Given the description of an element on the screen output the (x, y) to click on. 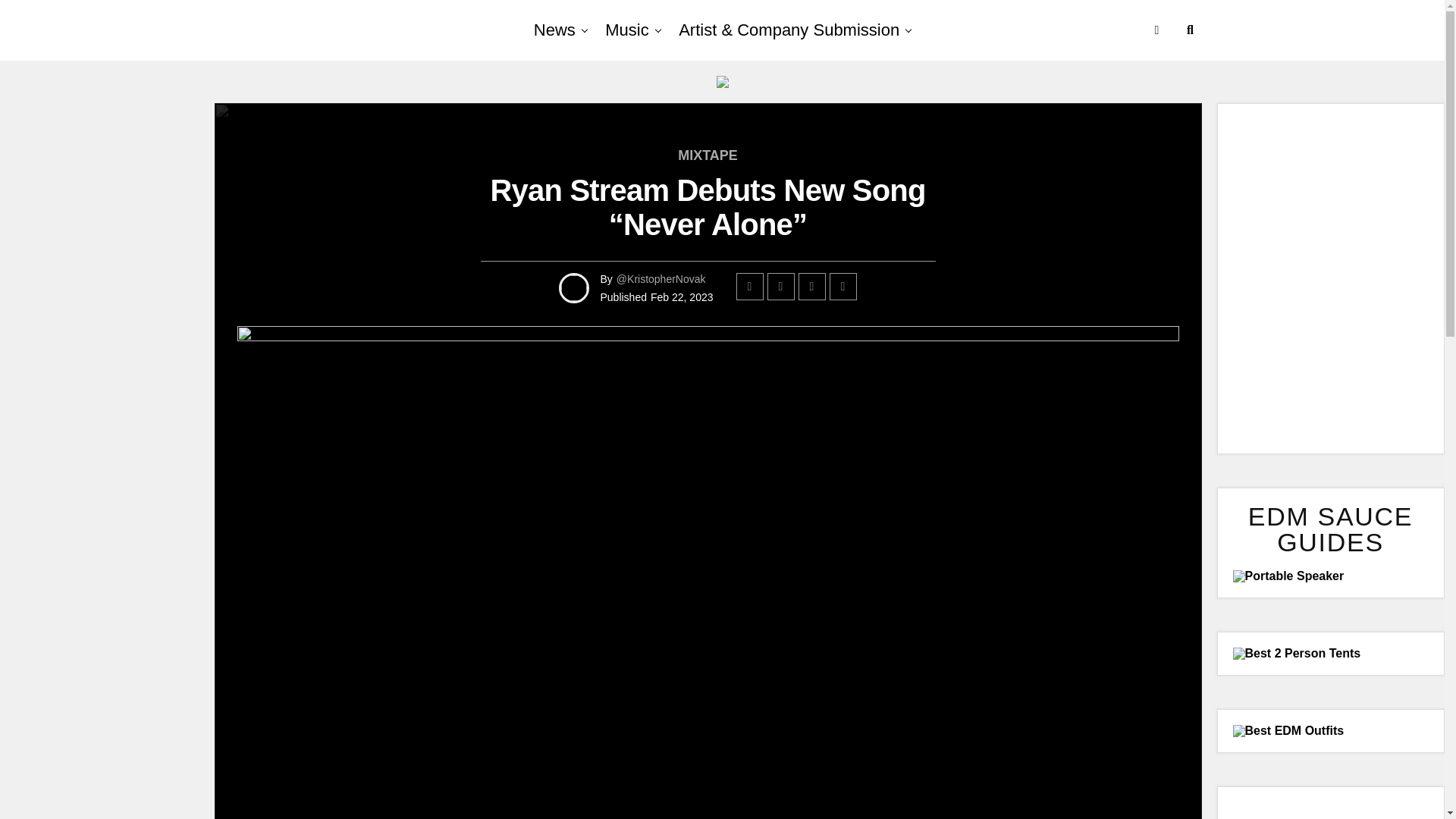
Music (626, 30)
News (554, 30)
